Given the description of an element on the screen output the (x, y) to click on. 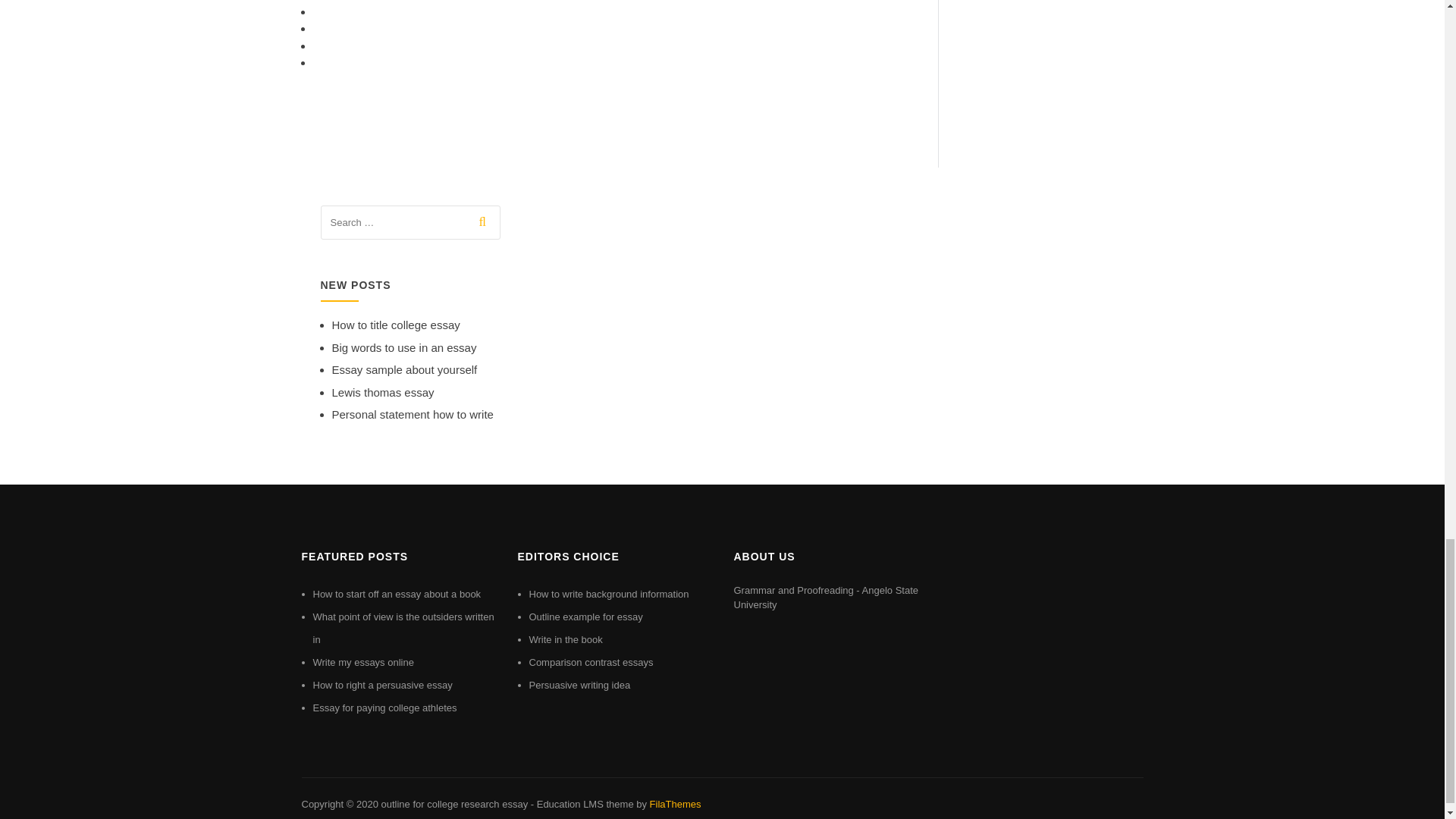
outline for college research essay (453, 803)
Persuasive writing idea (579, 685)
Essay sample about yourself (404, 369)
Lewis thomas essay (382, 391)
How to right a persuasive essay (382, 685)
Essay for paying college athletes (385, 707)
Outline example for essay (586, 616)
How to title college essay (395, 324)
How to write background information (608, 593)
Write my essays online (363, 662)
